Given the description of an element on the screen output the (x, y) to click on. 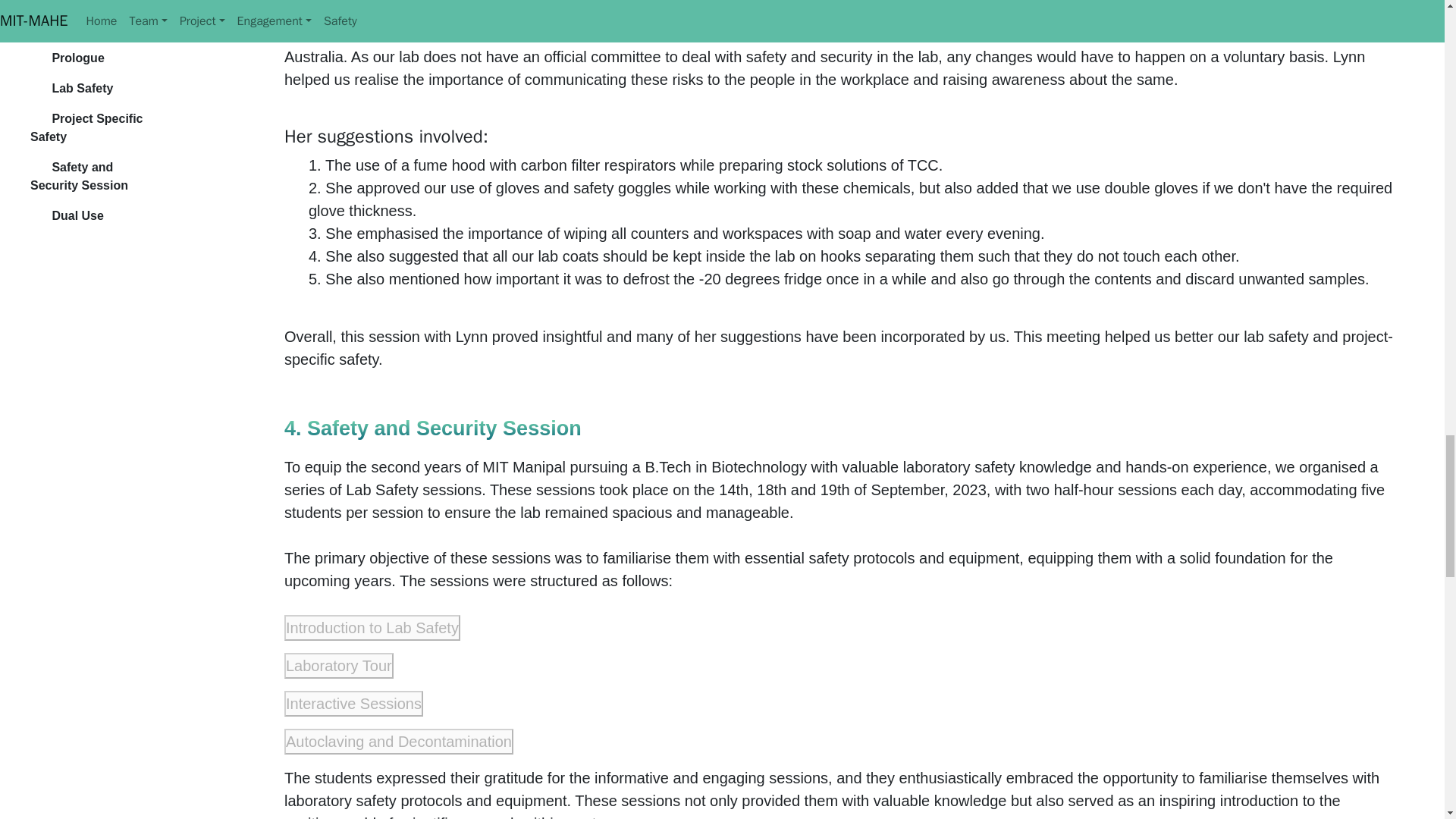
Laboratory Tour (46, 664)
Interactive Sessions (56, 697)
Introduction to Lab Safety (69, 631)
Autoclaving and Decontamination (86, 731)
